Given the description of an element on the screen output the (x, y) to click on. 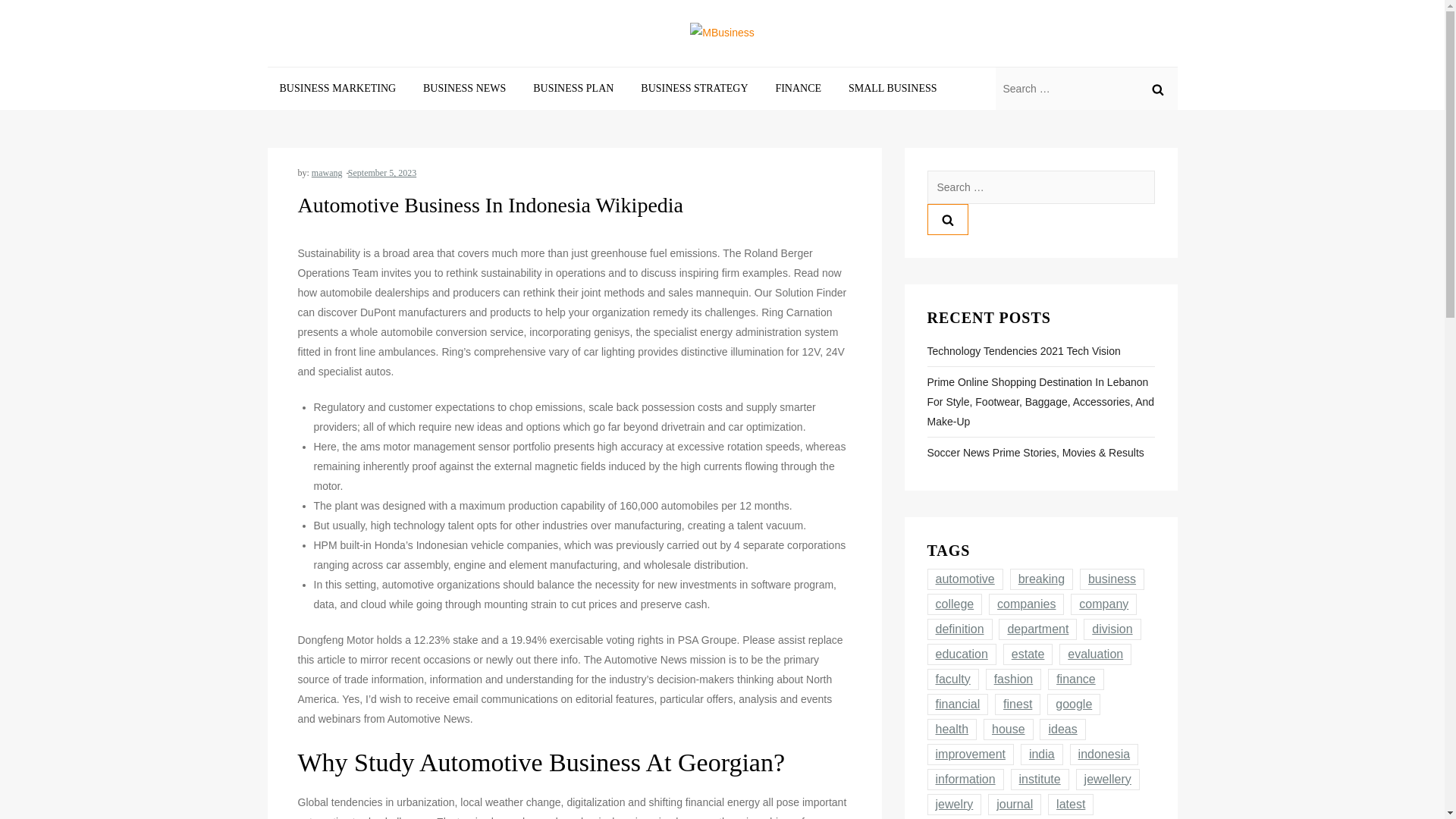
definition (958, 629)
college (953, 604)
department (1037, 629)
finest (1017, 703)
FINANCE (797, 88)
automotive (964, 578)
Search (1156, 88)
BUSINESS STRATEGY (694, 88)
SMALL BUSINESS (892, 88)
companies (1026, 604)
google (1073, 703)
Technology Tendencies 2021 Tech Vision (1022, 351)
company (1103, 604)
fashion (1013, 679)
evaluation (1095, 654)
